Given the description of an element on the screen output the (x, y) to click on. 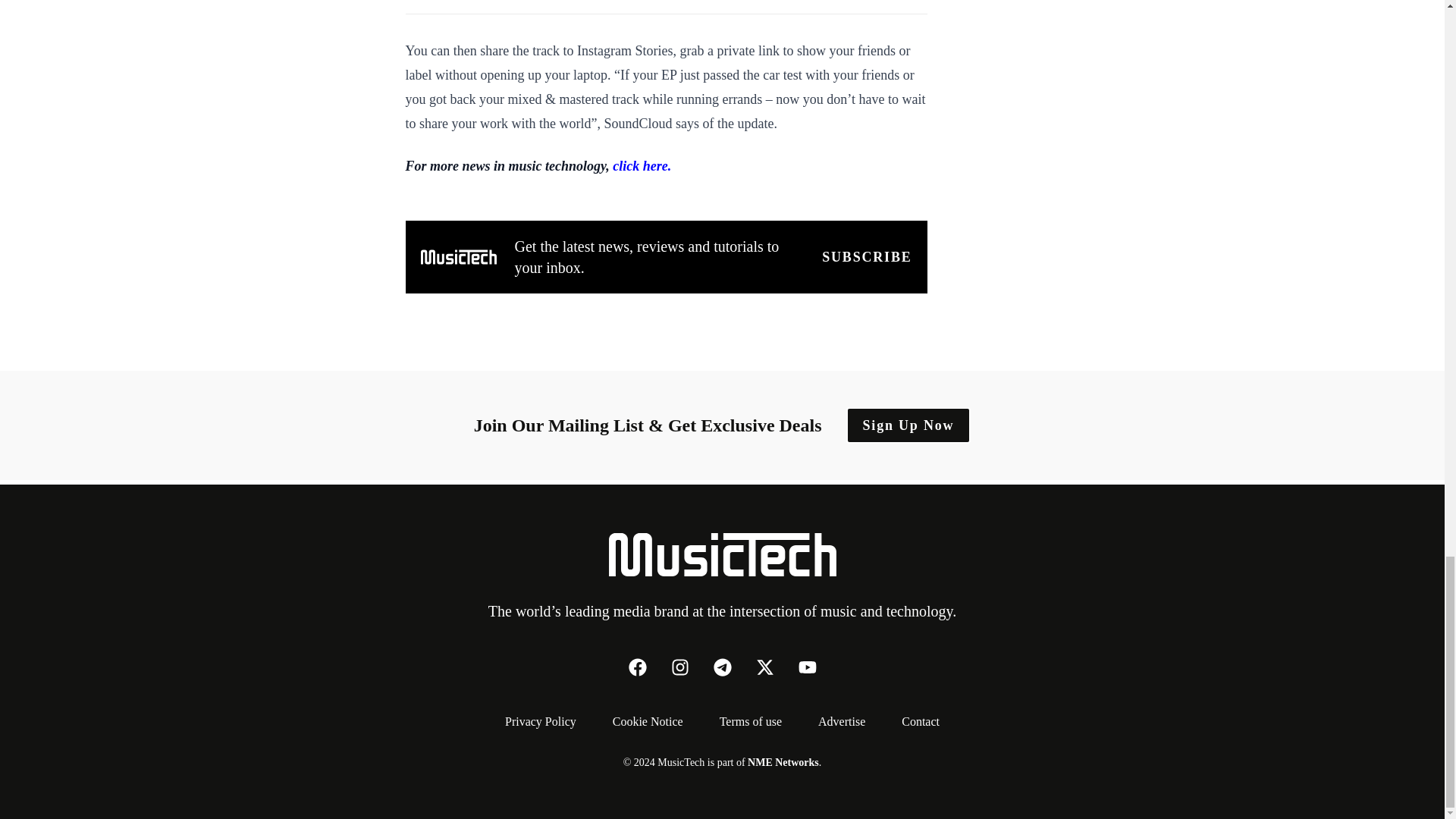
Join our mailing list (866, 256)
SUBSCRIBE (866, 256)
Sign Up Now (908, 425)
click here. (641, 165)
